Given the description of an element on the screen output the (x, y) to click on. 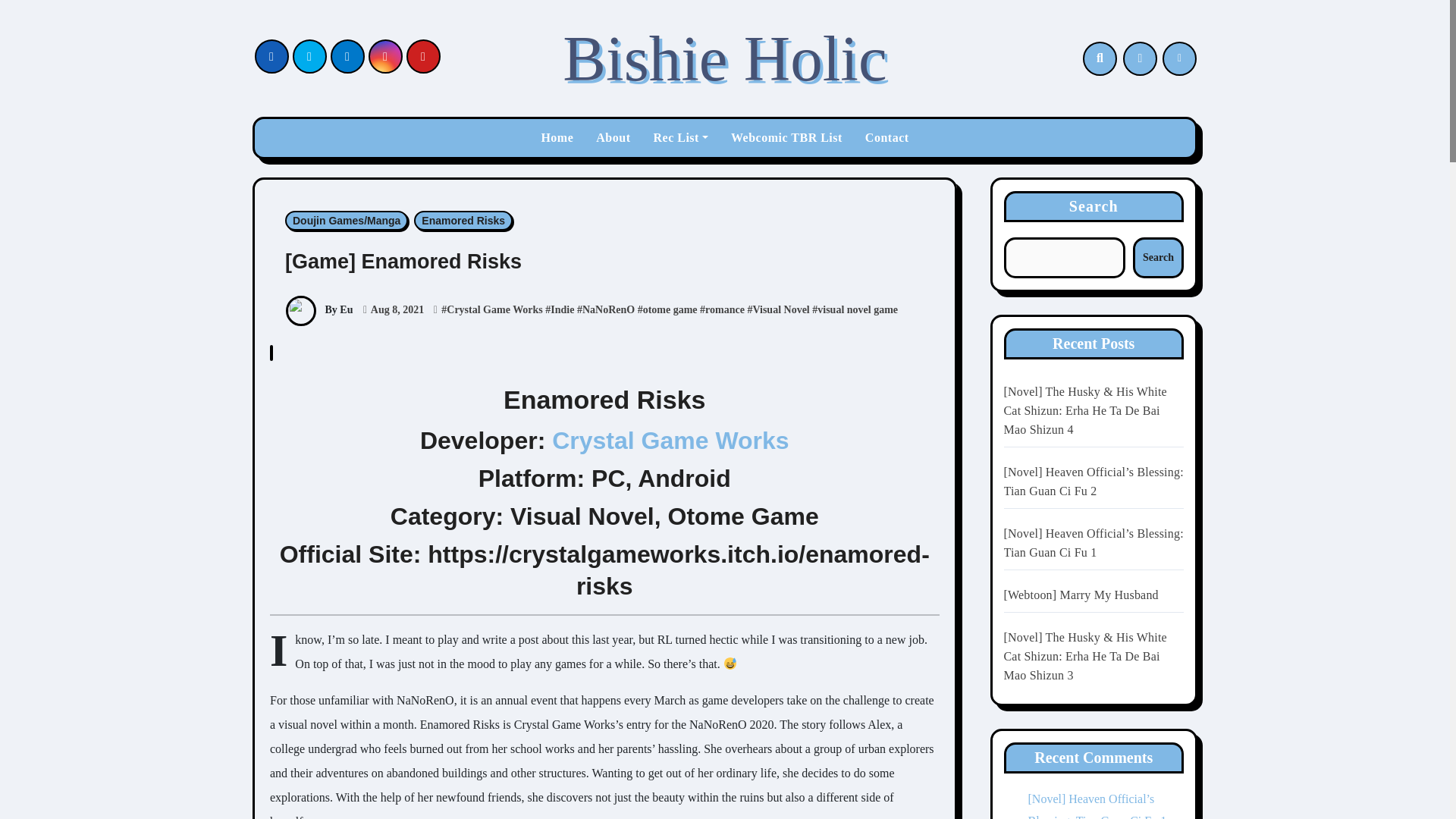
About (613, 137)
Home (557, 137)
Rec List (680, 137)
By Eu (318, 309)
Contact (886, 137)
Webcomic TBR List (786, 137)
Bishie Holic (724, 58)
Home (557, 137)
Enamored Risks (462, 220)
